Given the description of an element on the screen output the (x, y) to click on. 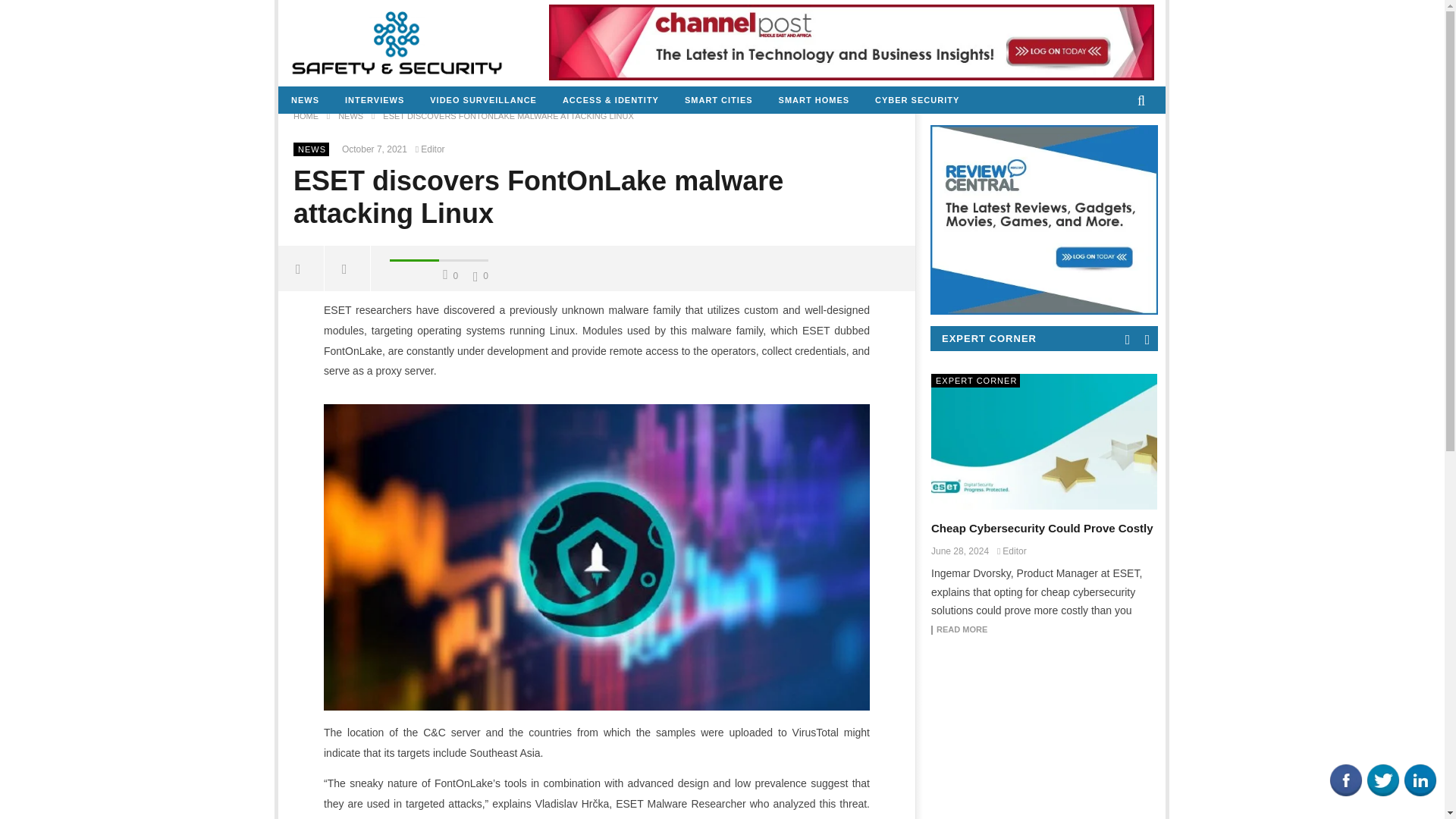
HOME (306, 115)
NEWS (349, 115)
SMART CITIES (718, 99)
VIDEO SURVEILLANCE (483, 99)
NEWS (304, 99)
NEWS (312, 148)
INTERVIEWS (373, 99)
Posts by Editor (431, 148)
SNS Mideast (396, 42)
search (1125, 126)
View all posts in News (312, 148)
SMART HOMES (814, 99)
CYBER SECURITY (916, 99)
Editor (431, 148)
